Given the description of an element on the screen output the (x, y) to click on. 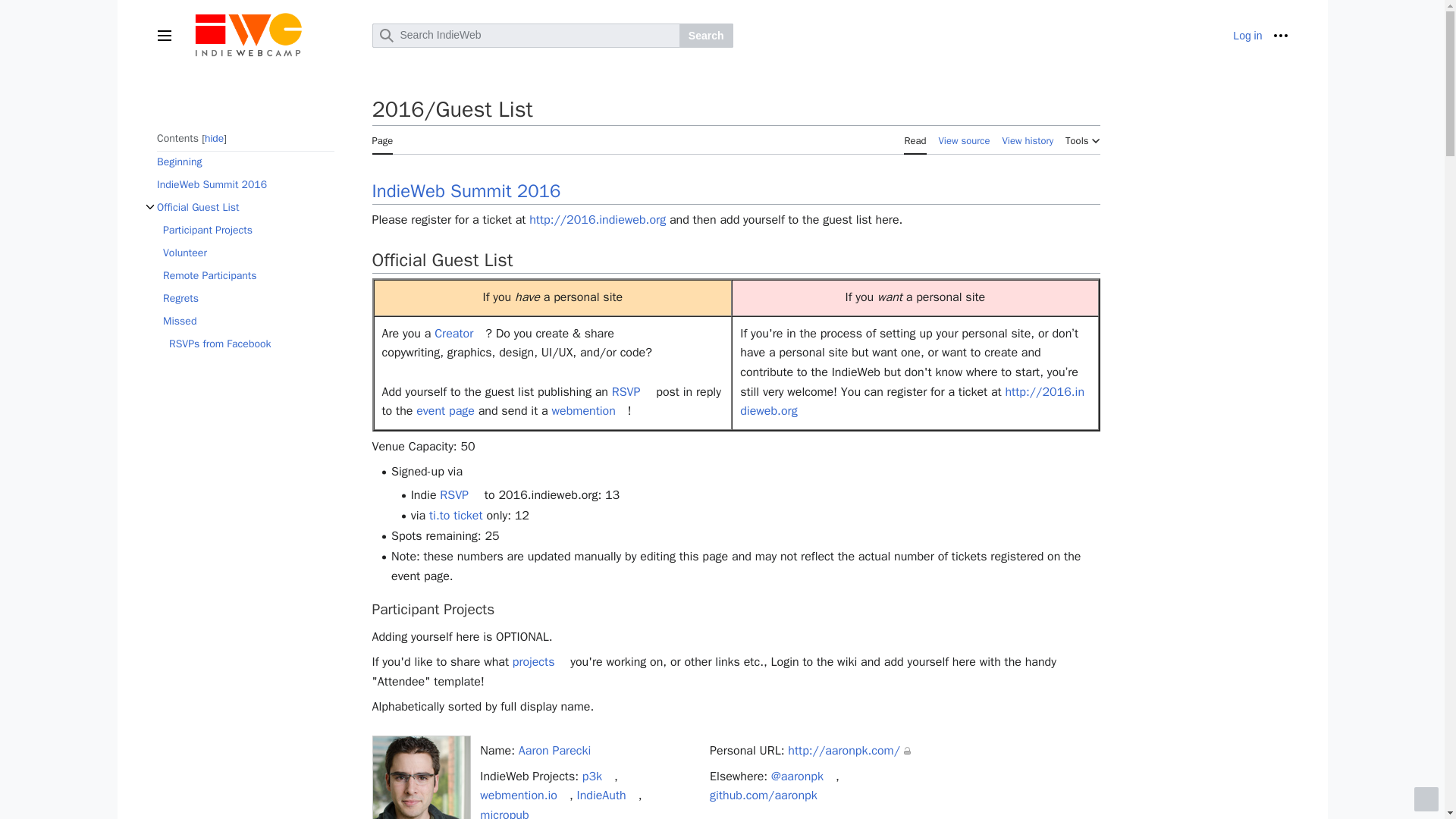
IndieWeb Summit 2016 (244, 184)
Search (706, 34)
Volunteer (247, 252)
Beginning (244, 161)
More options (1280, 34)
Log in (1247, 34)
Official Guest List (244, 207)
Toggle Official Guest List subsection (149, 207)
hide (214, 138)
Participant Projects (247, 230)
